Given the description of an element on the screen output the (x, y) to click on. 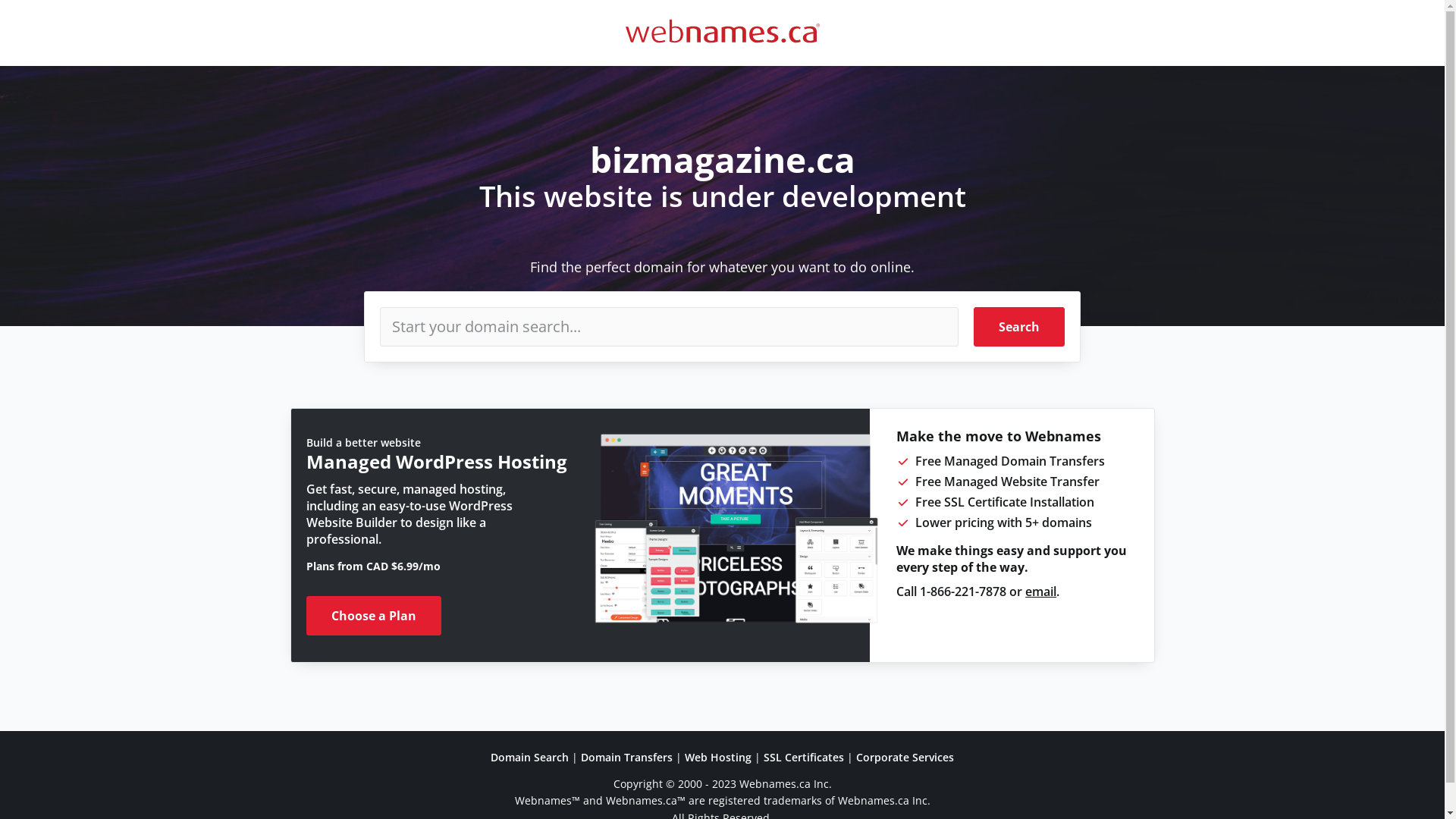
1-866-221-7878 Element type: text (962, 591)
Domain Transfers Element type: text (626, 756)
Domain Search Element type: text (529, 756)
Search Element type: text (1018, 326)
Web Hosting Element type: text (717, 756)
SSL Certificates Element type: text (803, 756)
Corporate Services Element type: text (904, 756)
Choose a Plan Element type: text (373, 615)
email Element type: text (1040, 591)
